Given the description of an element on the screen output the (x, y) to click on. 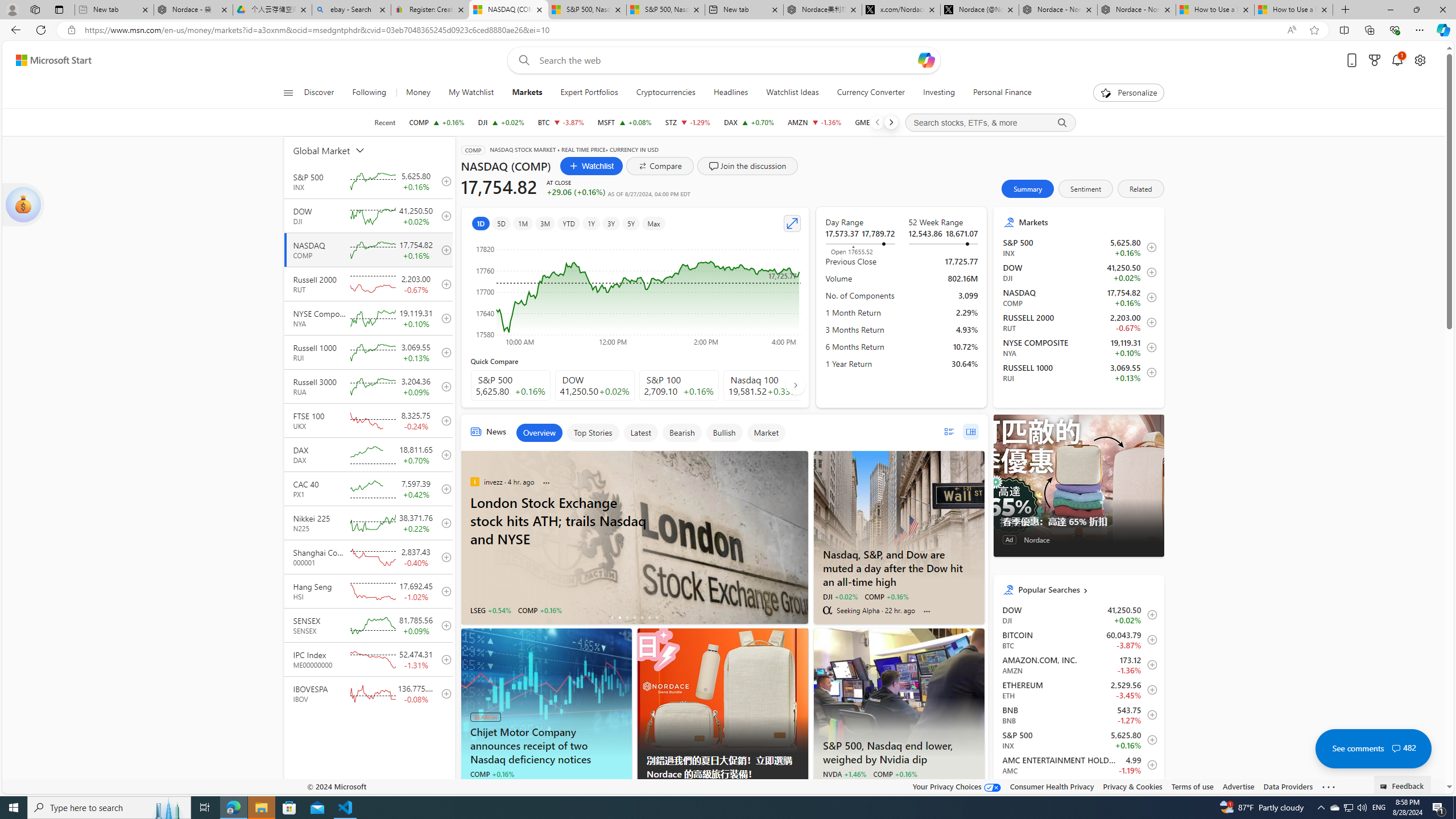
Nordace (@NordaceOfficial) / X (979, 9)
How to Use a Monitor With Your Closed Laptop (1293, 9)
Data Providers (1288, 786)
Class: feedback_link_icon-DS-EntryPoint1-1 (1384, 786)
Headlines (730, 92)
Currency Converter (870, 92)
Latest (640, 432)
Consumer Health Privacy (1051, 785)
Max (653, 223)
My Watchlist (471, 92)
grid layout (970, 431)
